Given the description of an element on the screen output the (x, y) to click on. 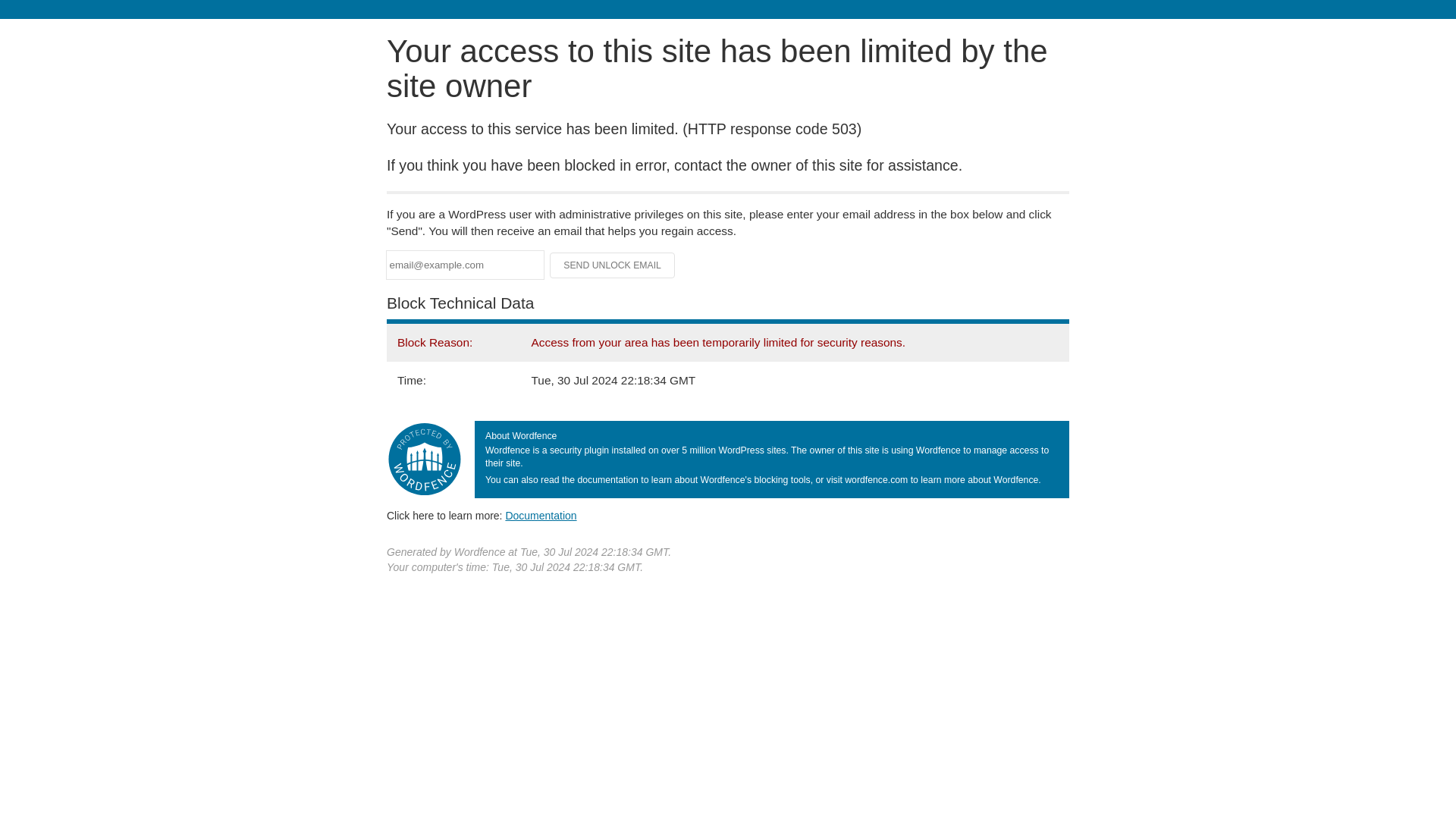
Send Unlock Email (612, 265)
Documentation (540, 515)
Send Unlock Email (612, 265)
